Given the description of an element on the screen output the (x, y) to click on. 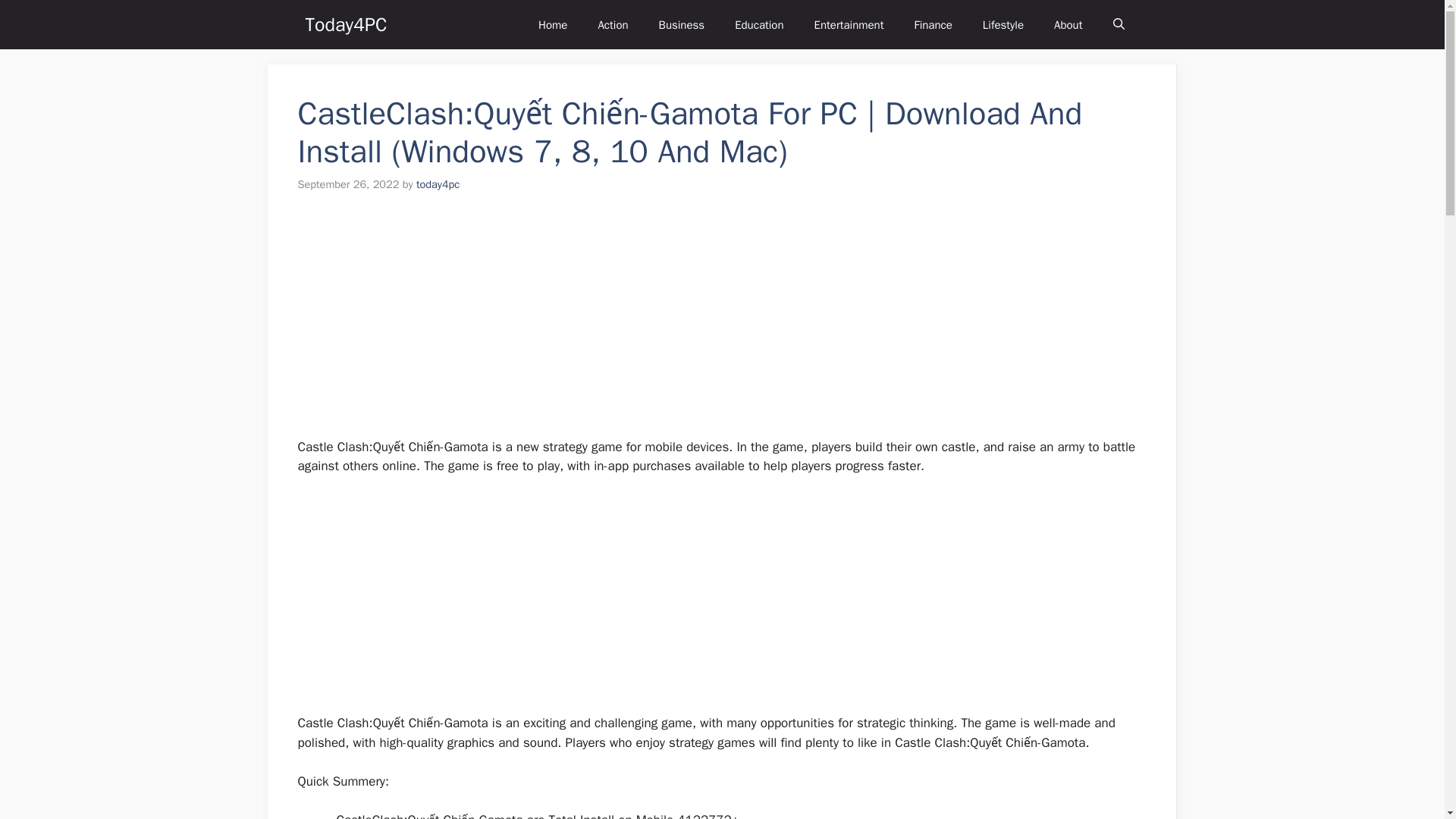
Business (681, 23)
Entertainment (849, 23)
About (1068, 23)
Today4PC (345, 24)
Education (758, 23)
Lifestyle (1003, 23)
Home (552, 23)
View all posts by today4pc (438, 183)
Finance (932, 23)
